Given the description of an element on the screen output the (x, y) to click on. 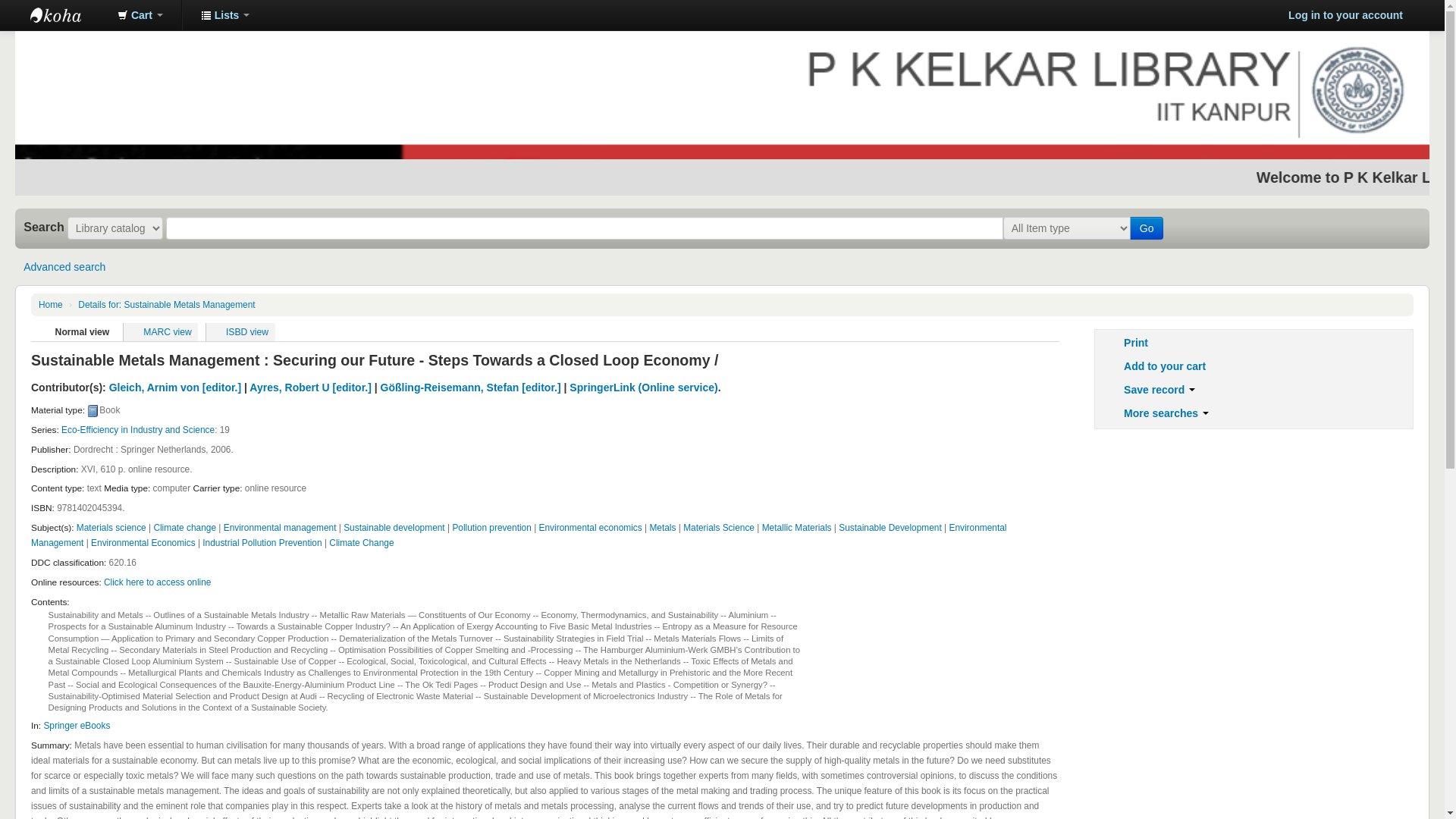
Environmental management (280, 527)
Pollution prevention (491, 527)
Materials science (112, 527)
PKK Library (68, 15)
Home (50, 304)
Advanced search (63, 266)
Go (1146, 228)
Cart (140, 15)
Collect items you are interested in (140, 15)
Details for: Sustainable Metals Management (166, 304)
